Given the description of an element on the screen output the (x, y) to click on. 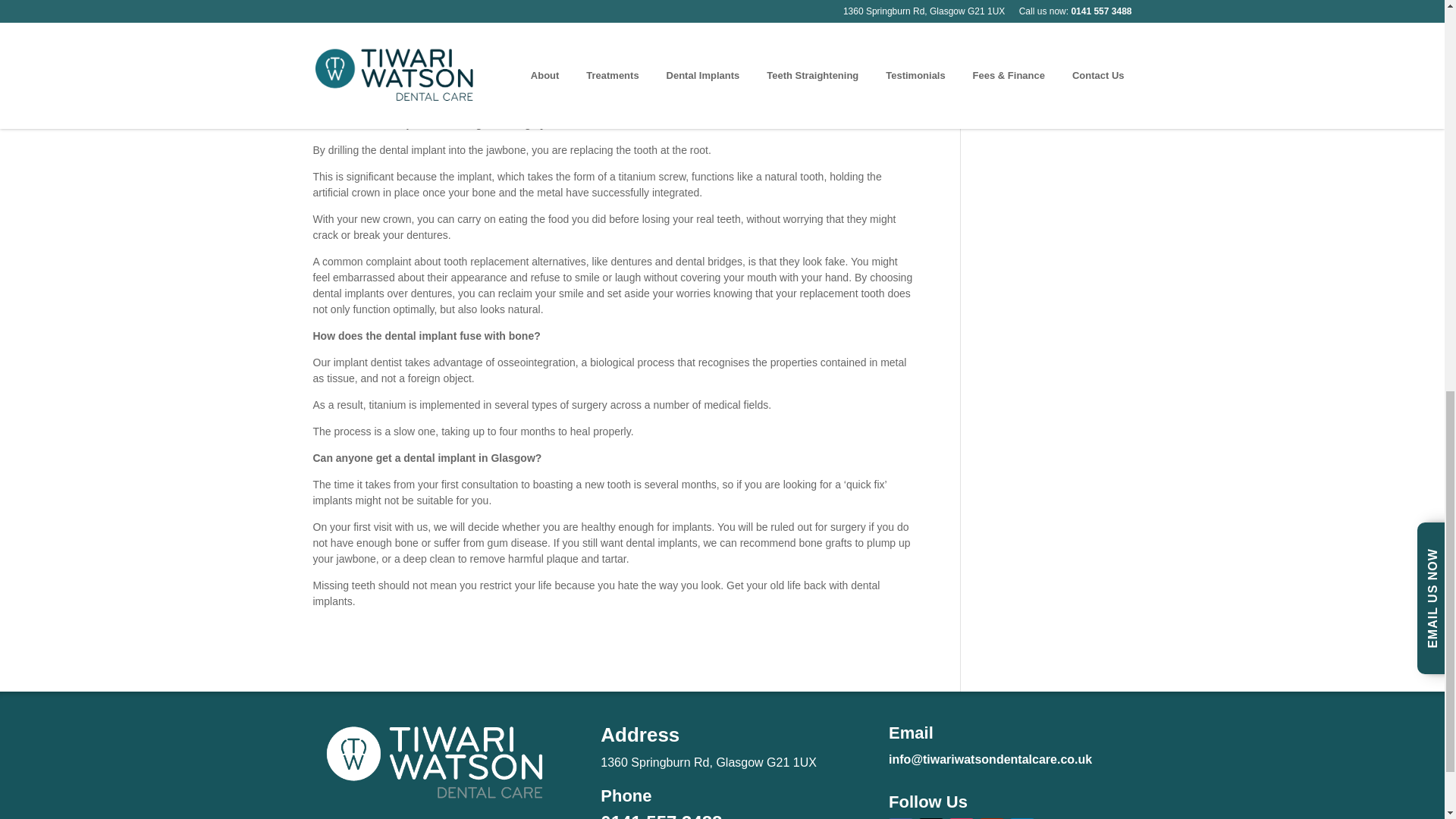
Tiwari-Dental-Logo-White (433, 763)
